Given the description of an element on the screen output the (x, y) to click on. 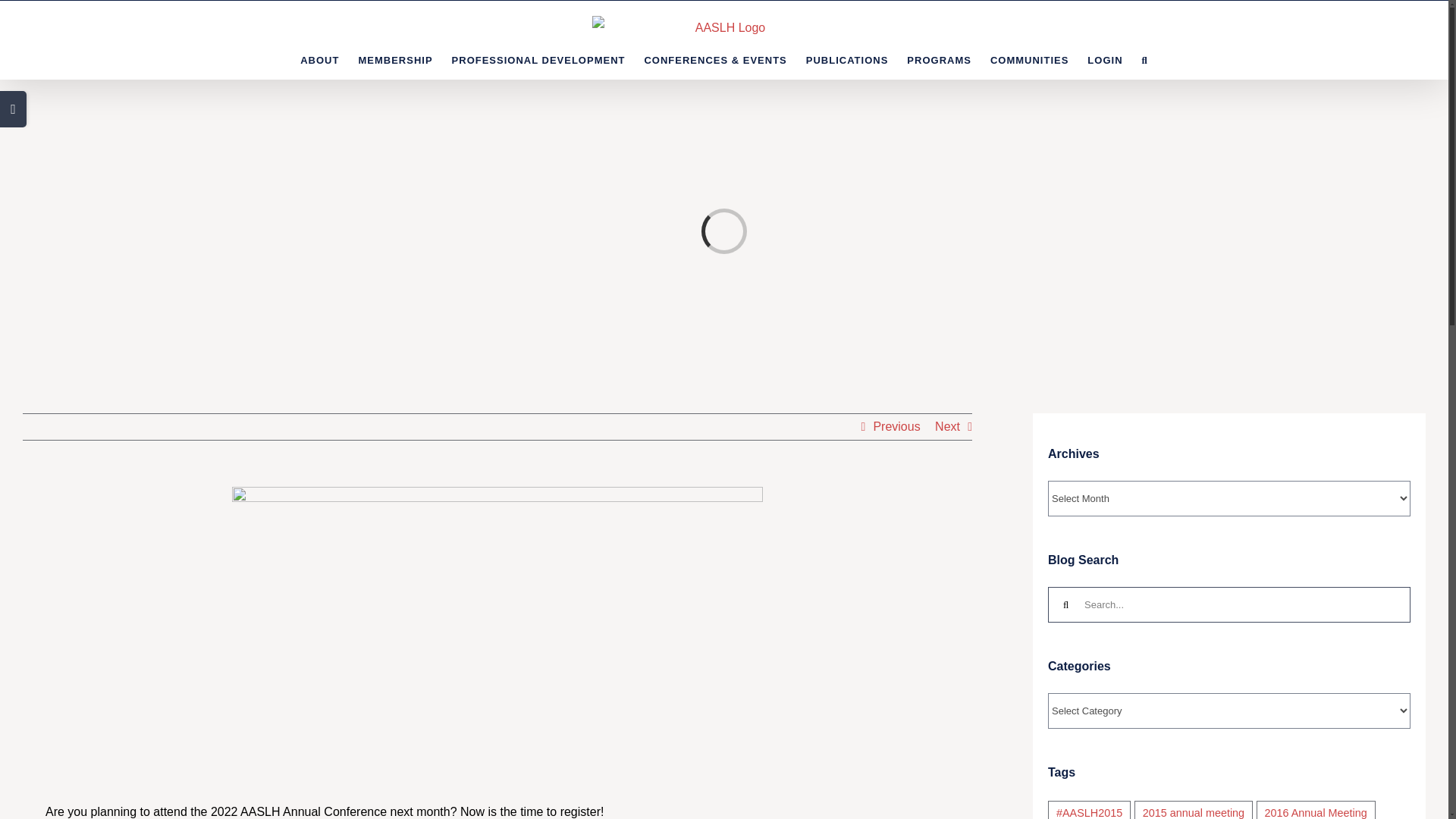
ABOUT (319, 59)
MEMBERSHIP (395, 59)
PROFESSIONAL DEVELOPMENT (538, 59)
PUBLICATIONS (847, 59)
